Given the description of an element on the screen output the (x, y) to click on. 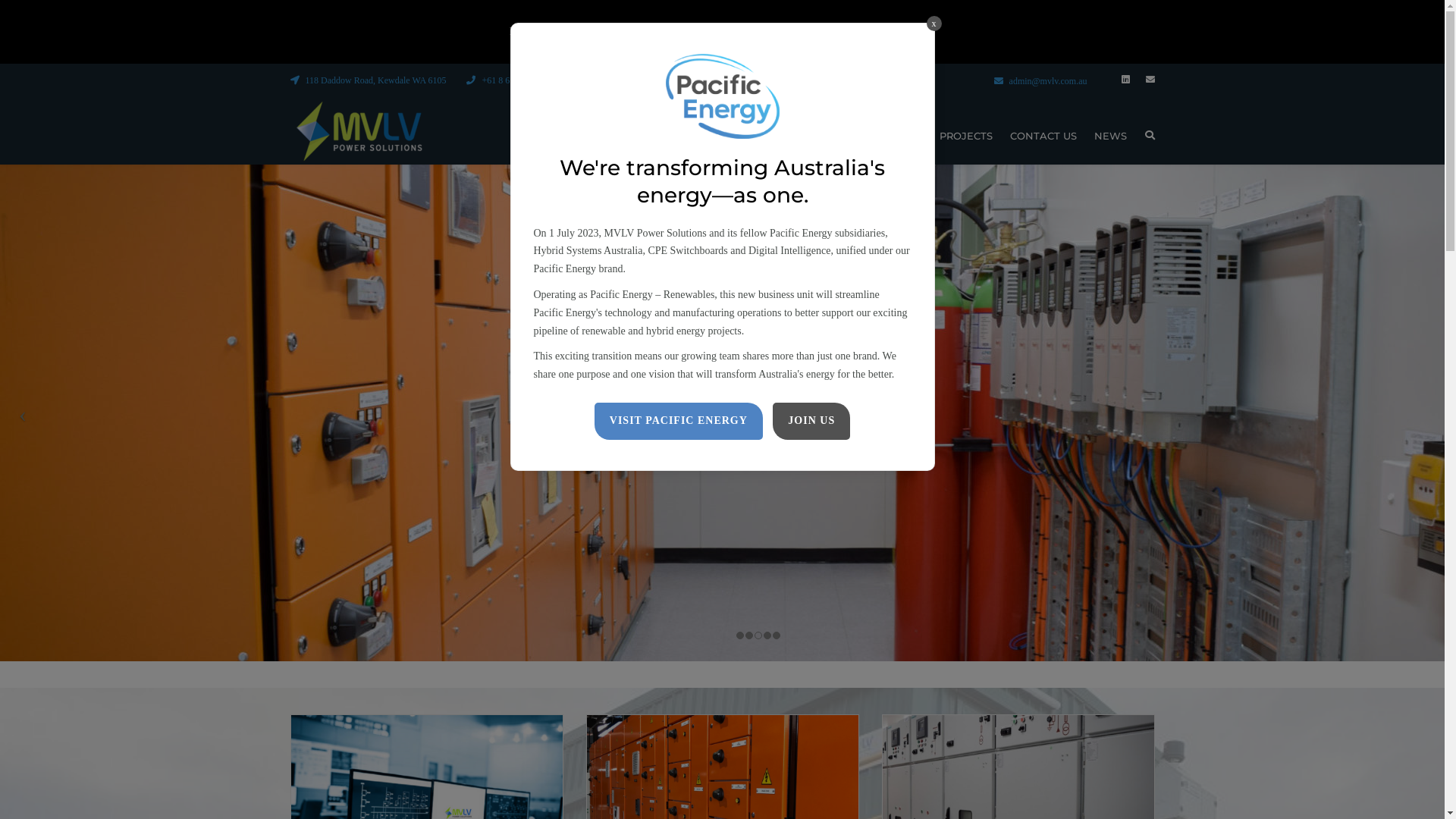
VISIT PACIFIC ENERGY Element type: text (678, 420)
ABOUT US Element type: text (752, 135)
HOME Element type: text (692, 135)
SERVICES Element type: text (822, 135)
CONTACT US Element type: text (1043, 135)
JOIN US Element type: text (811, 420)
NEWS Element type: text (1110, 135)
Visit Pacific Energy Element type: text (889, 31)
PROJECTS Element type: text (965, 135)
PRODUCTS Element type: text (892, 135)
